Given the description of an element on the screen output the (x, y) to click on. 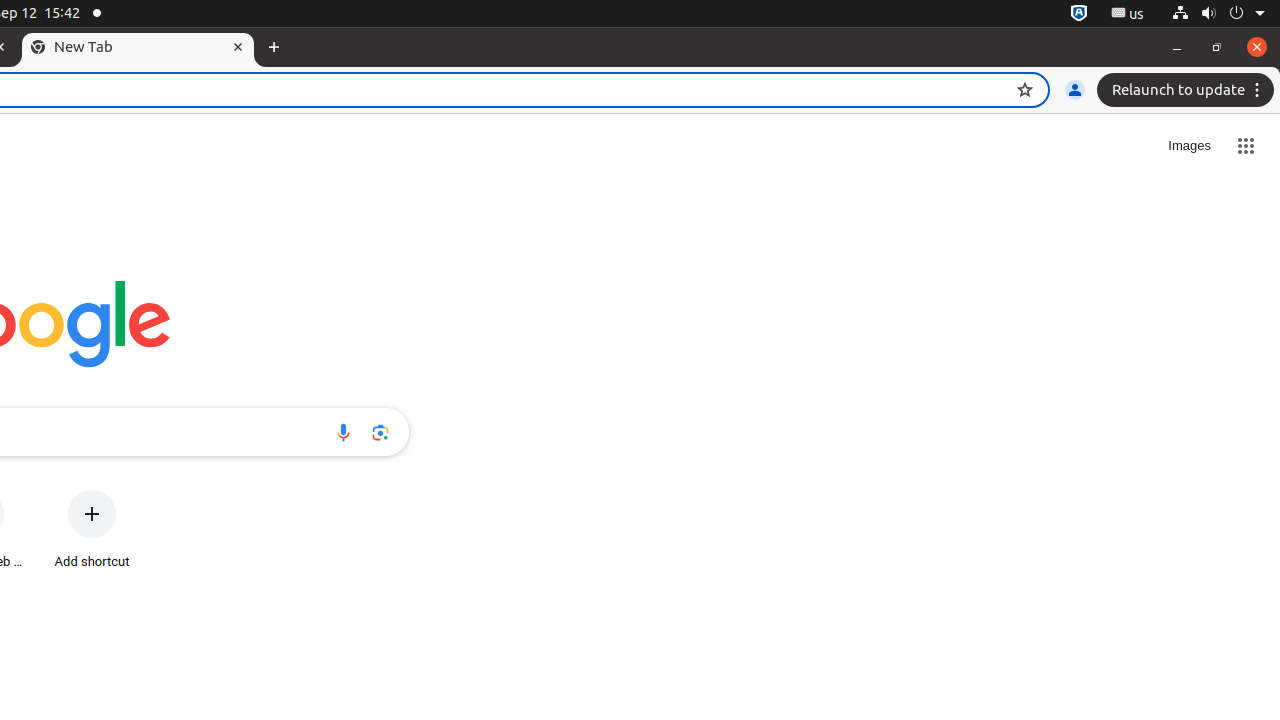
Search by image Element type: push-button (380, 432)
Bookmark this tab Element type: push-button (1025, 90)
New Tab Element type: push-button (274, 47)
